Given the description of an element on the screen output the (x, y) to click on. 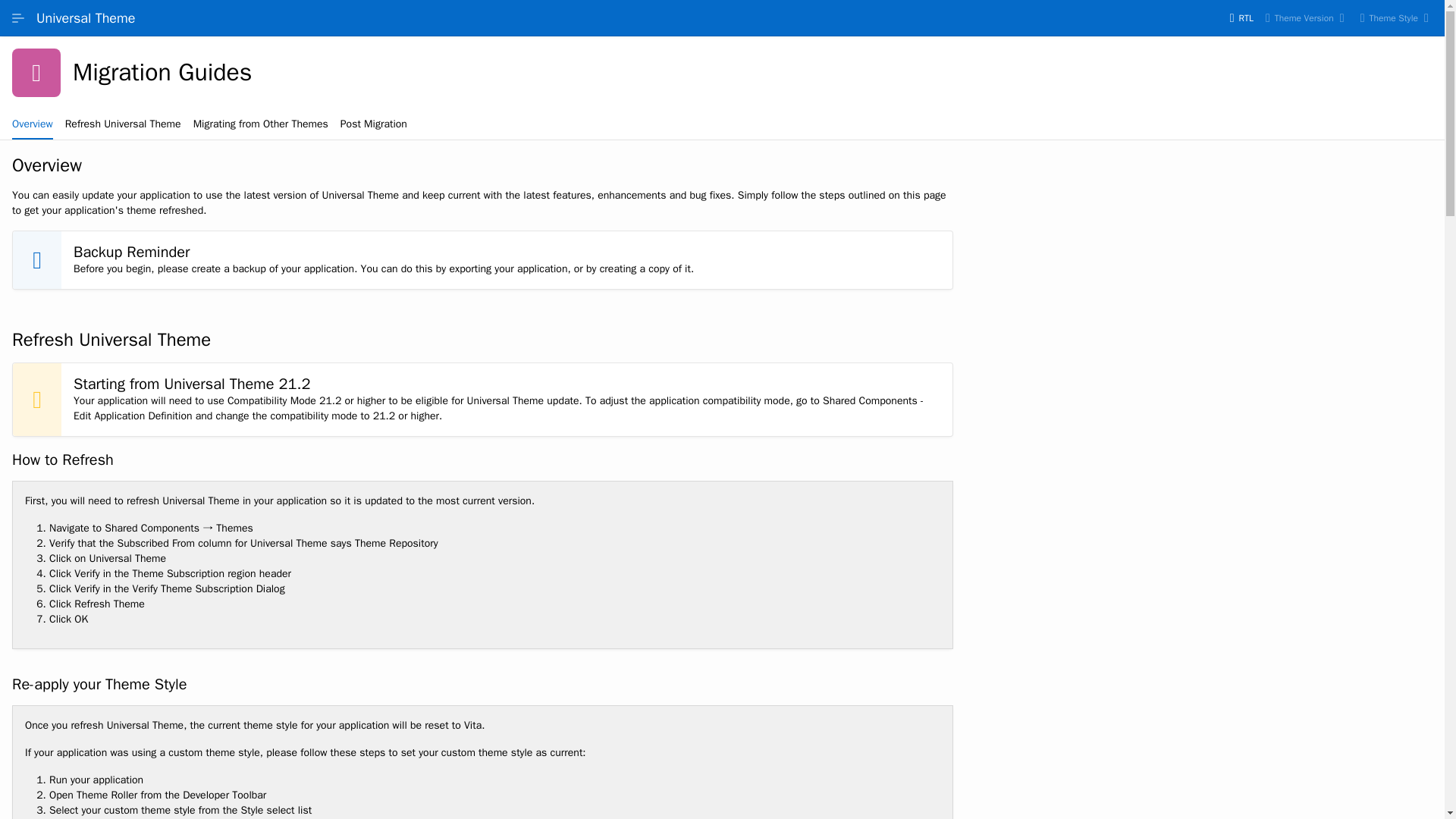
Theme Version (1306, 17)
Main Navigation (17, 17)
Universal Theme (85, 18)
Theme Style (1396, 17)
RTL (1241, 17)
